Given the description of an element on the screen output the (x, y) to click on. 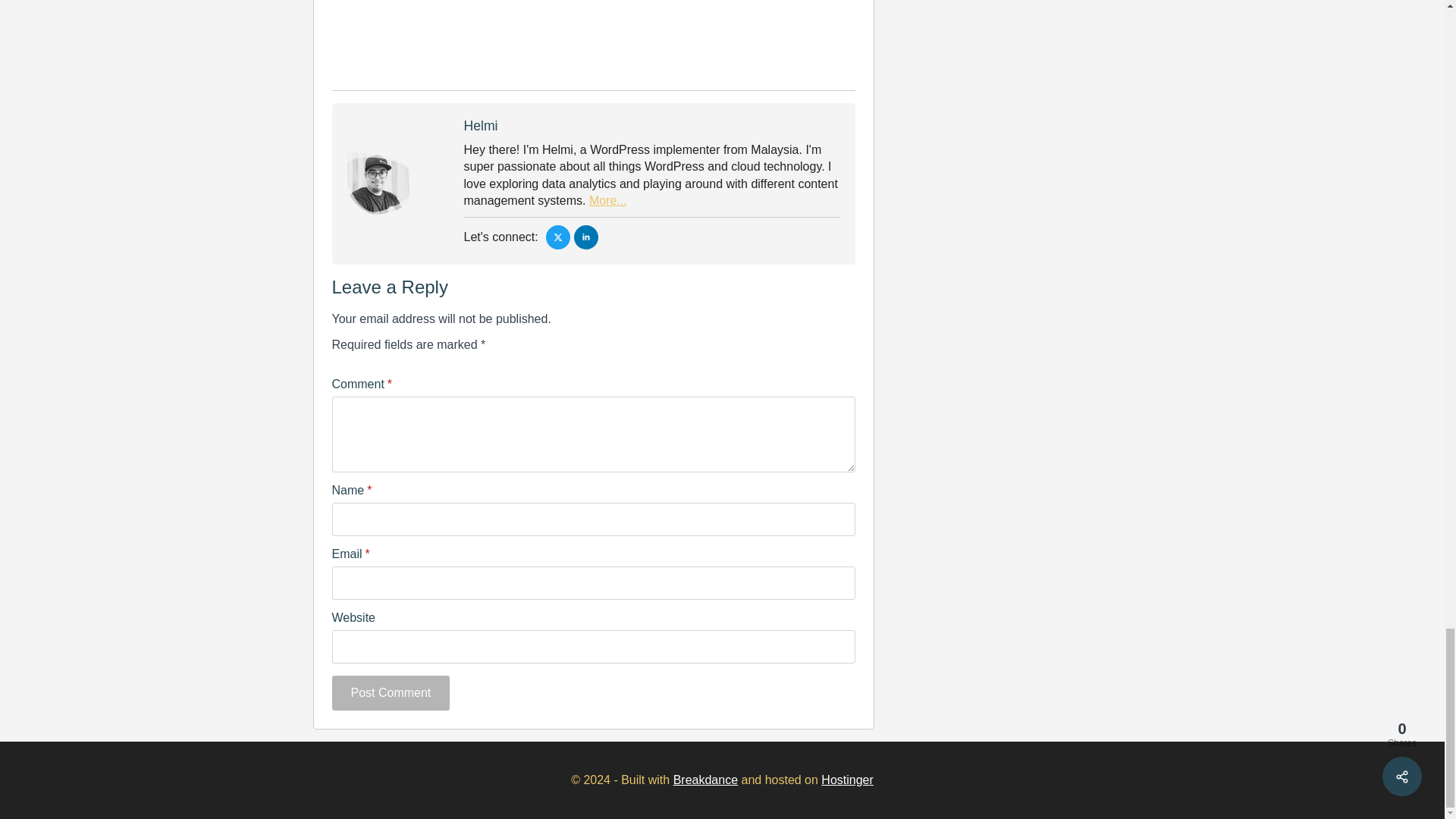
More... (608, 200)
Breakdance (705, 779)
Post Comment (390, 692)
Post Comment (390, 692)
Hostinger (846, 779)
